Given the description of an element on the screen output the (x, y) to click on. 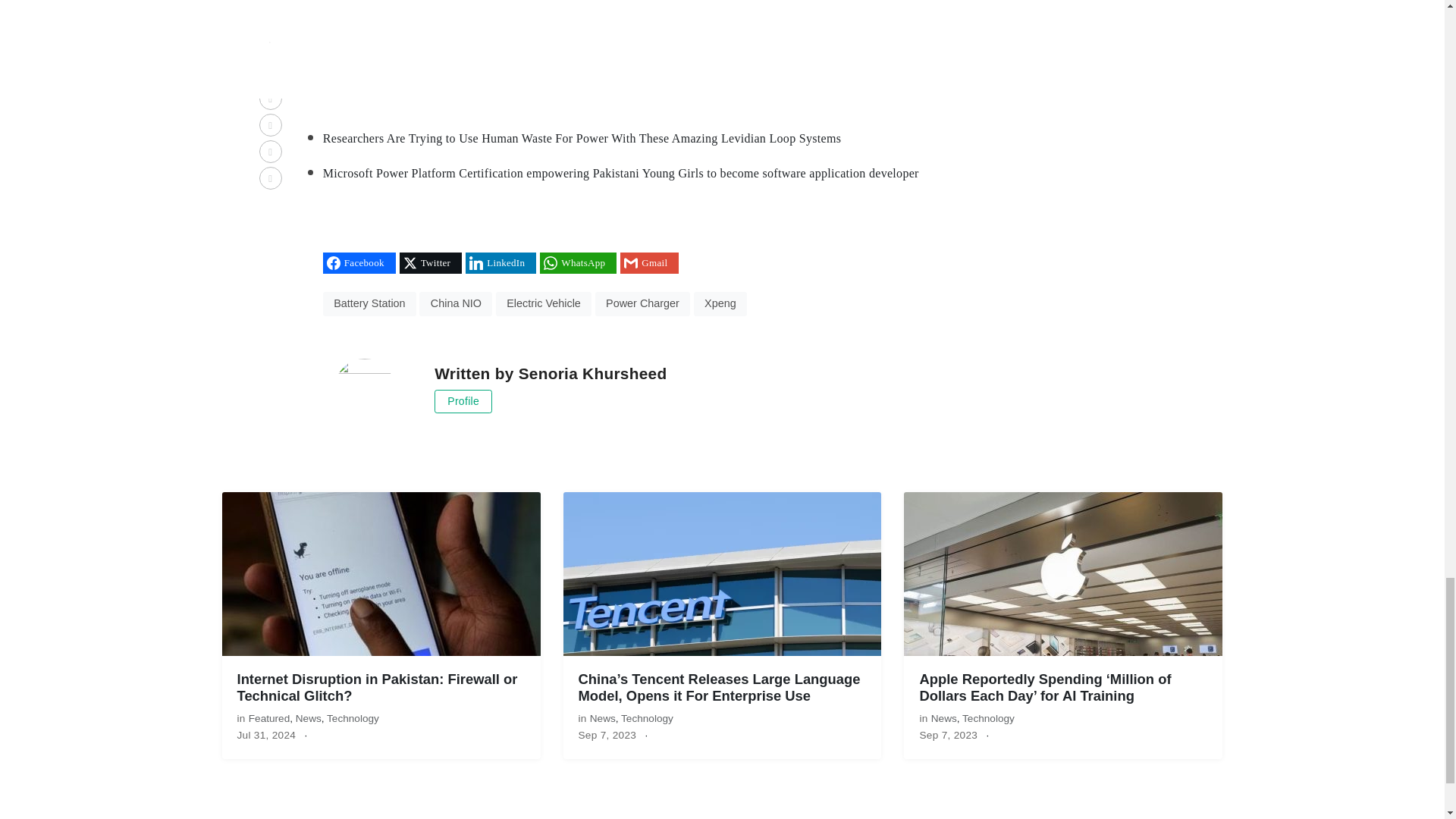
Share on Gmail (649, 262)
Share on LinkedIn (500, 262)
Share on Facebook (359, 262)
Share on Twitter (429, 262)
Share on WhatsApp (577, 262)
